Given the description of an element on the screen output the (x, y) to click on. 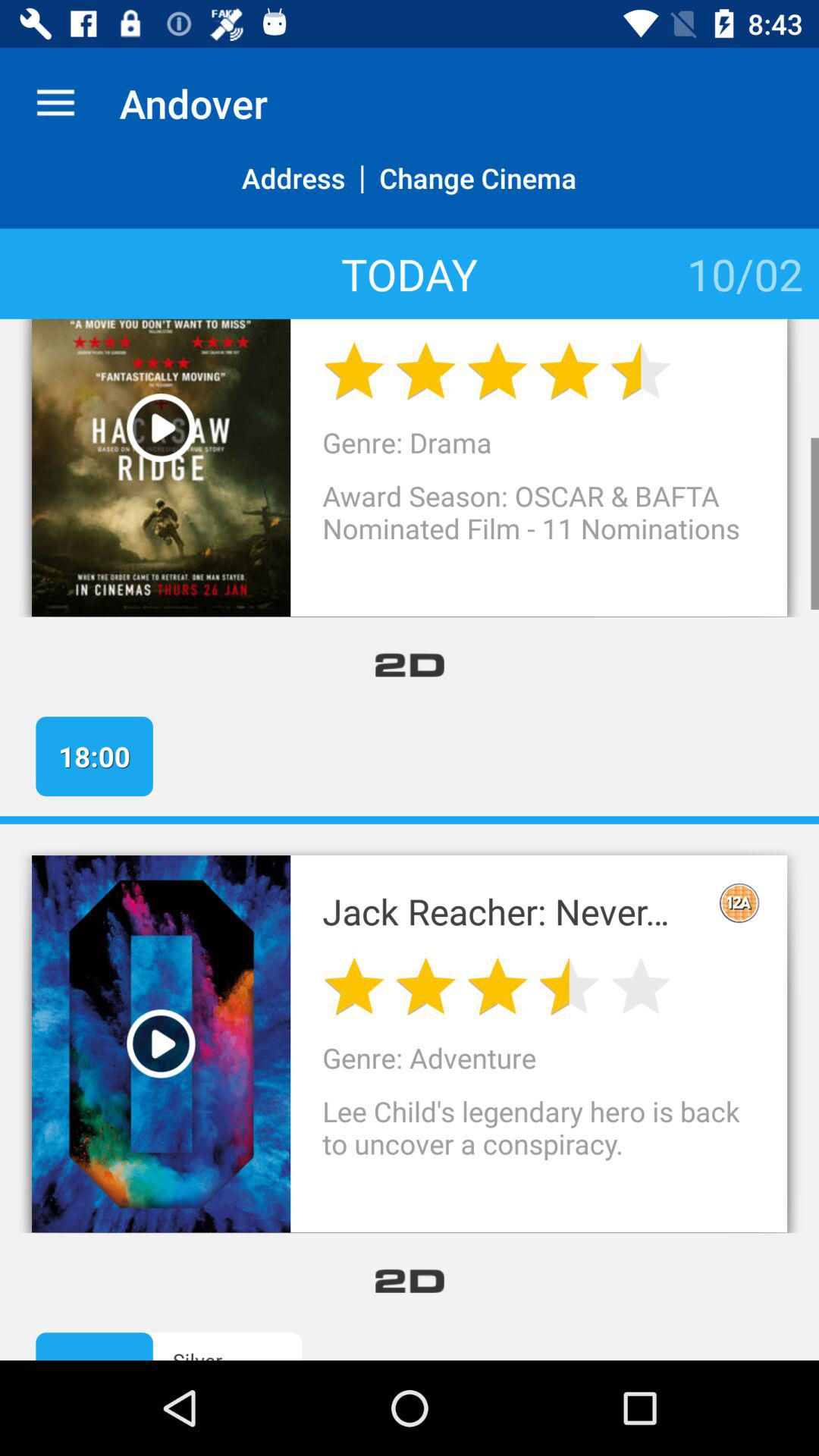
choose the app next to the andover app (55, 103)
